Given the description of an element on the screen output the (x, y) to click on. 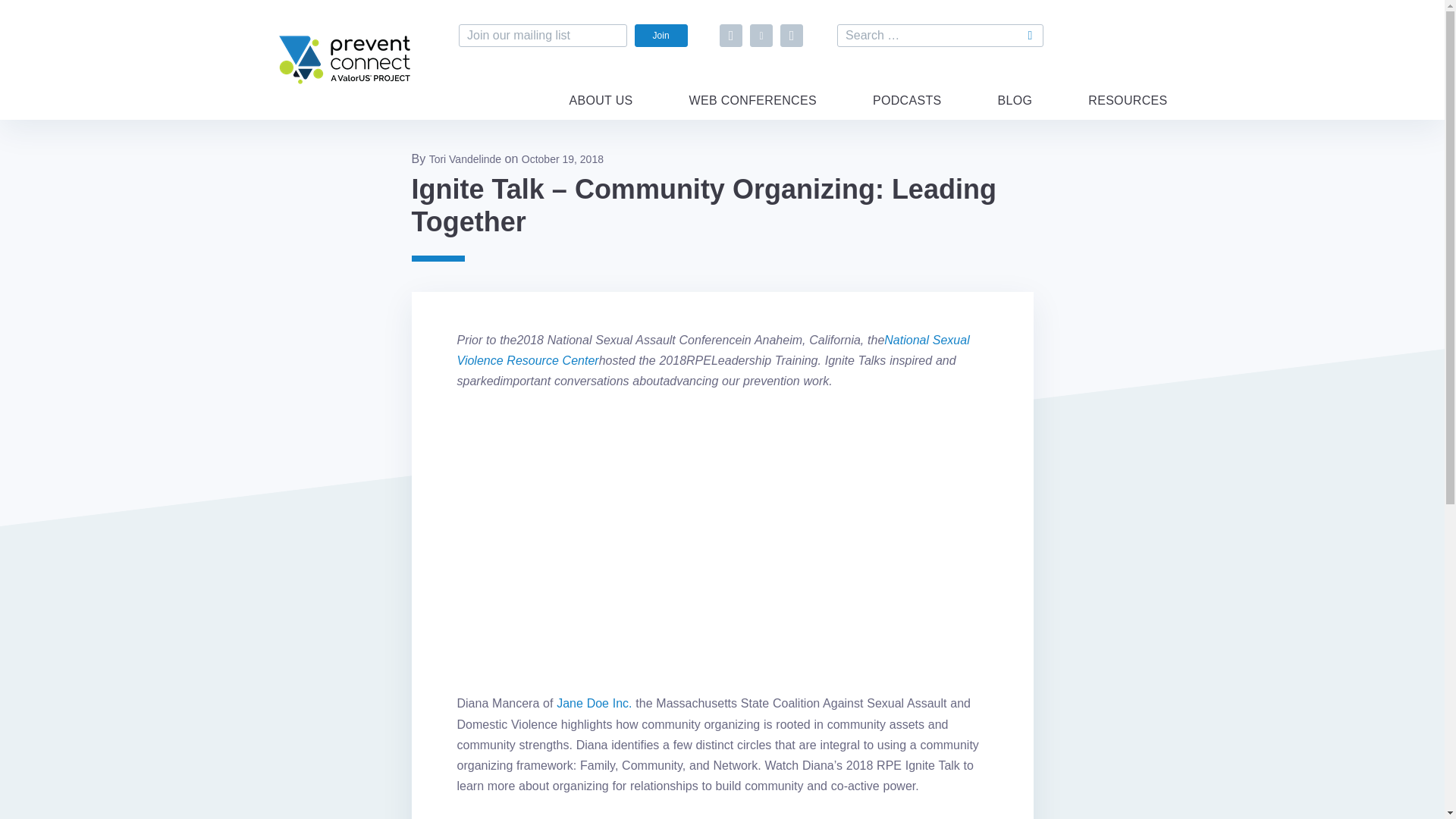
Jane Doe Inc. (593, 703)
ABOUT US (601, 108)
Posts by Tori Vandelinde (464, 159)
PODCASTS (907, 108)
National Sexual Violence Resource Center (713, 349)
RESOURCES (1127, 108)
BLOG (1015, 108)
October 19, 2018 (562, 159)
Instagram (791, 35)
Join (660, 35)
Twitter (761, 35)
Search (1031, 35)
October 19, 2018 (562, 159)
Join (660, 35)
Tori Vandelinde (464, 159)
